Given the description of an element on the screen output the (x, y) to click on. 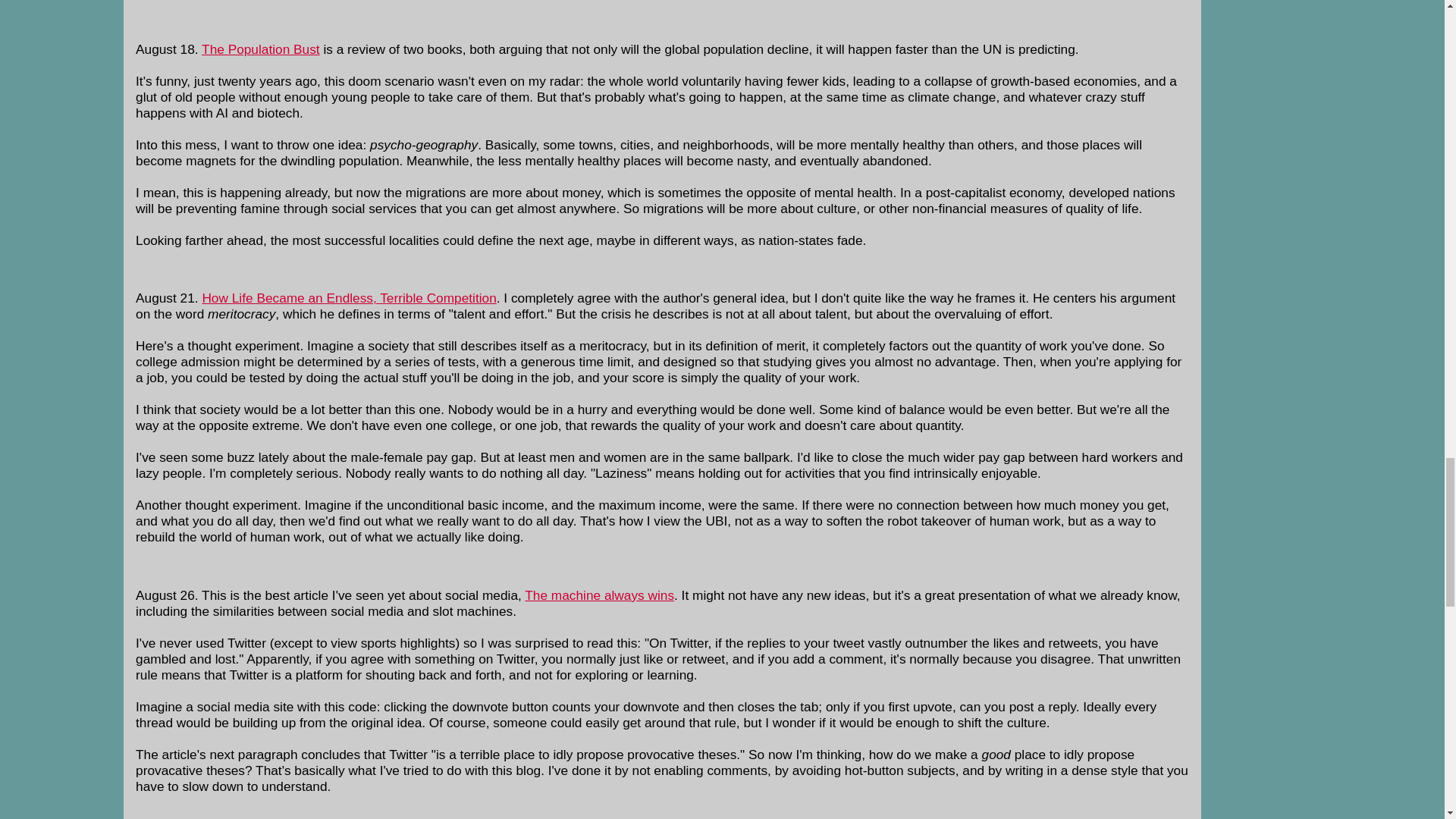
The Population Bust (261, 48)
The machine always wins (599, 595)
How Life Became an Endless, Terrible Competition (349, 297)
